Given the description of an element on the screen output the (x, y) to click on. 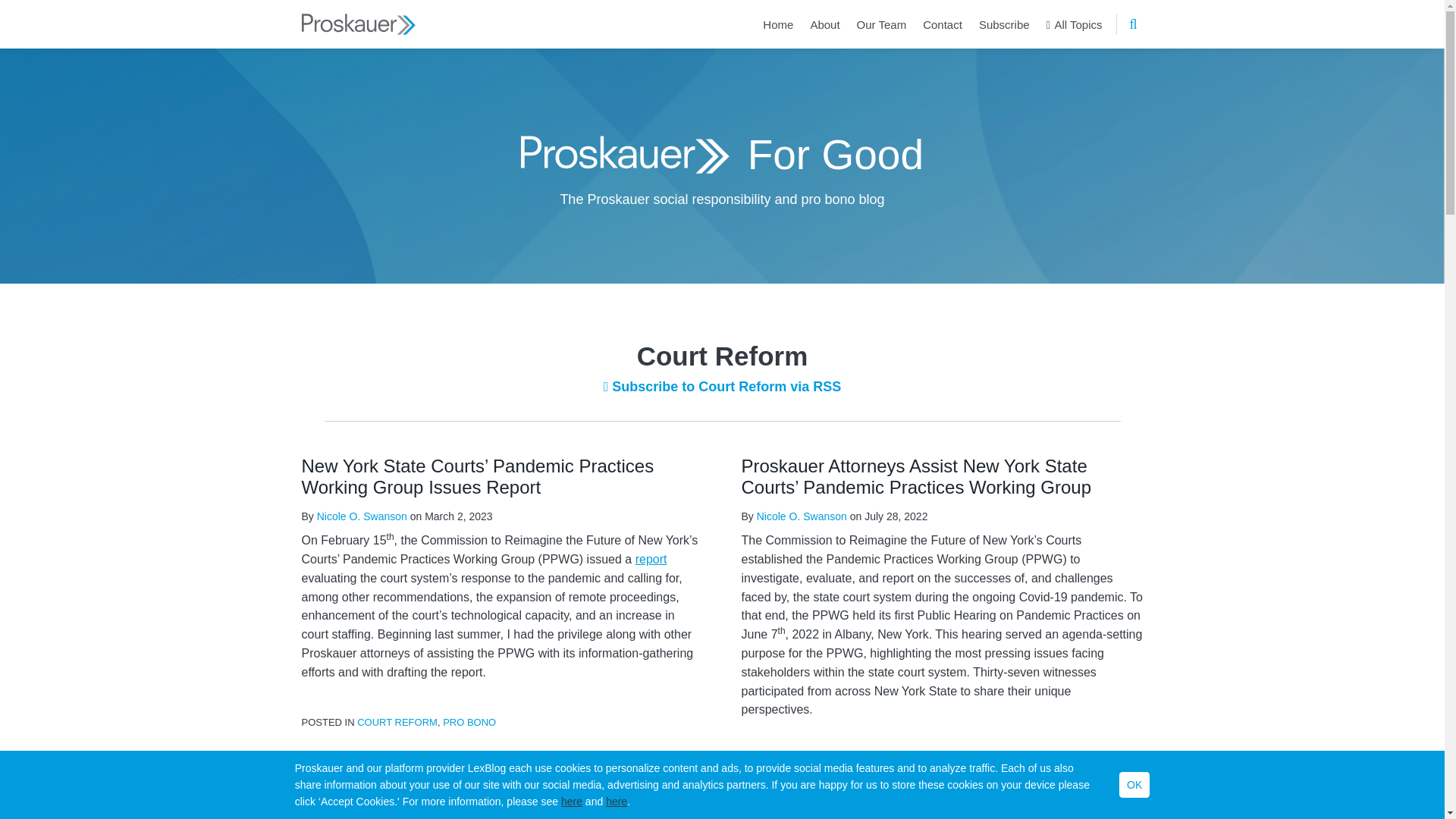
Subscribe (1003, 24)
Home (777, 24)
About (824, 24)
COURT REFORM (836, 758)
For Good (835, 153)
SOCIAL JUSTICE (922, 758)
COURT REFORM (397, 722)
Subscribe to Court Reform via RSS (722, 386)
Nicole O. Swanson (362, 516)
Our Team (882, 24)
